Given the description of an element on the screen output the (x, y) to click on. 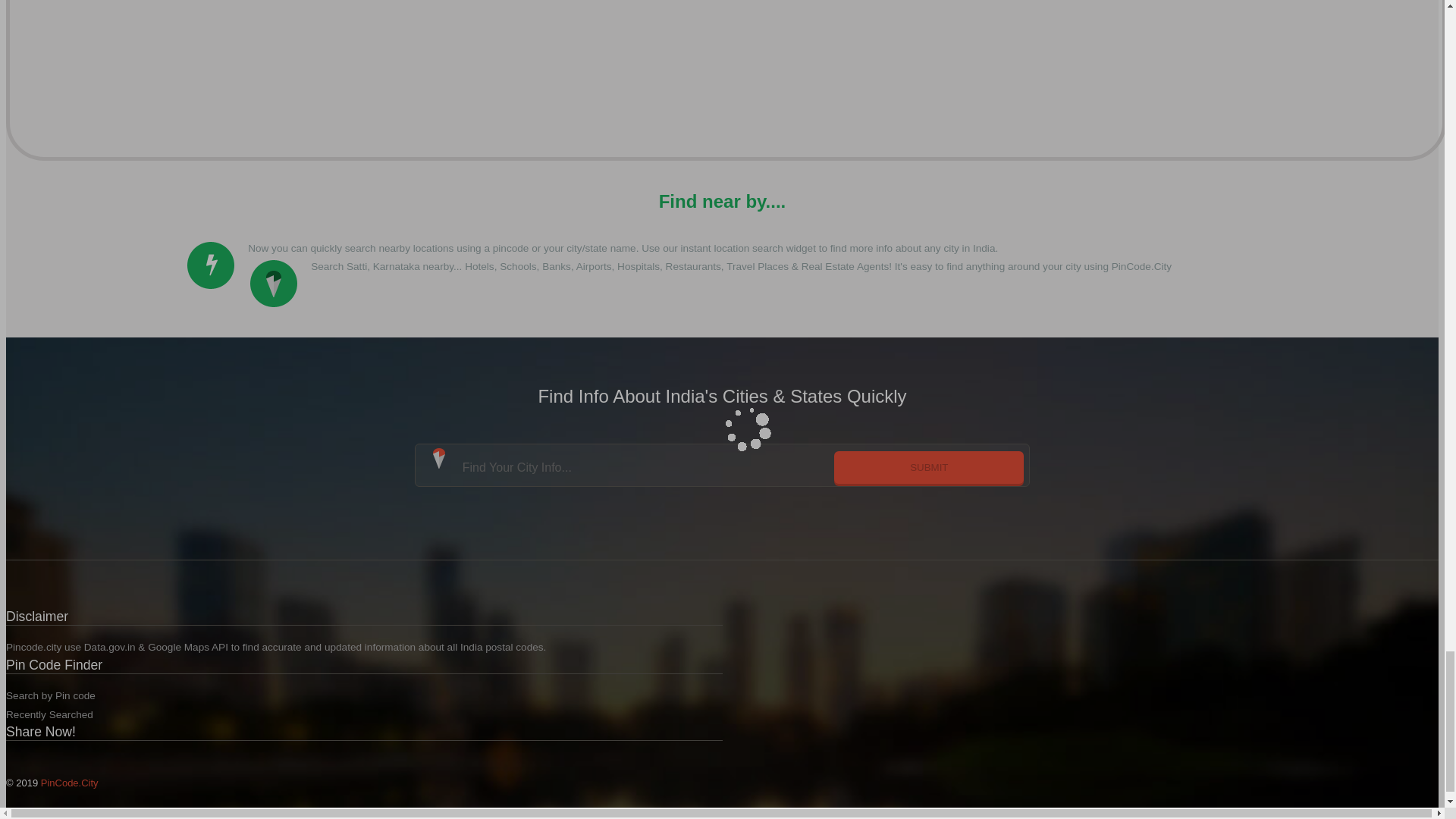
submit (928, 467)
